Given the description of an element on the screen output the (x, y) to click on. 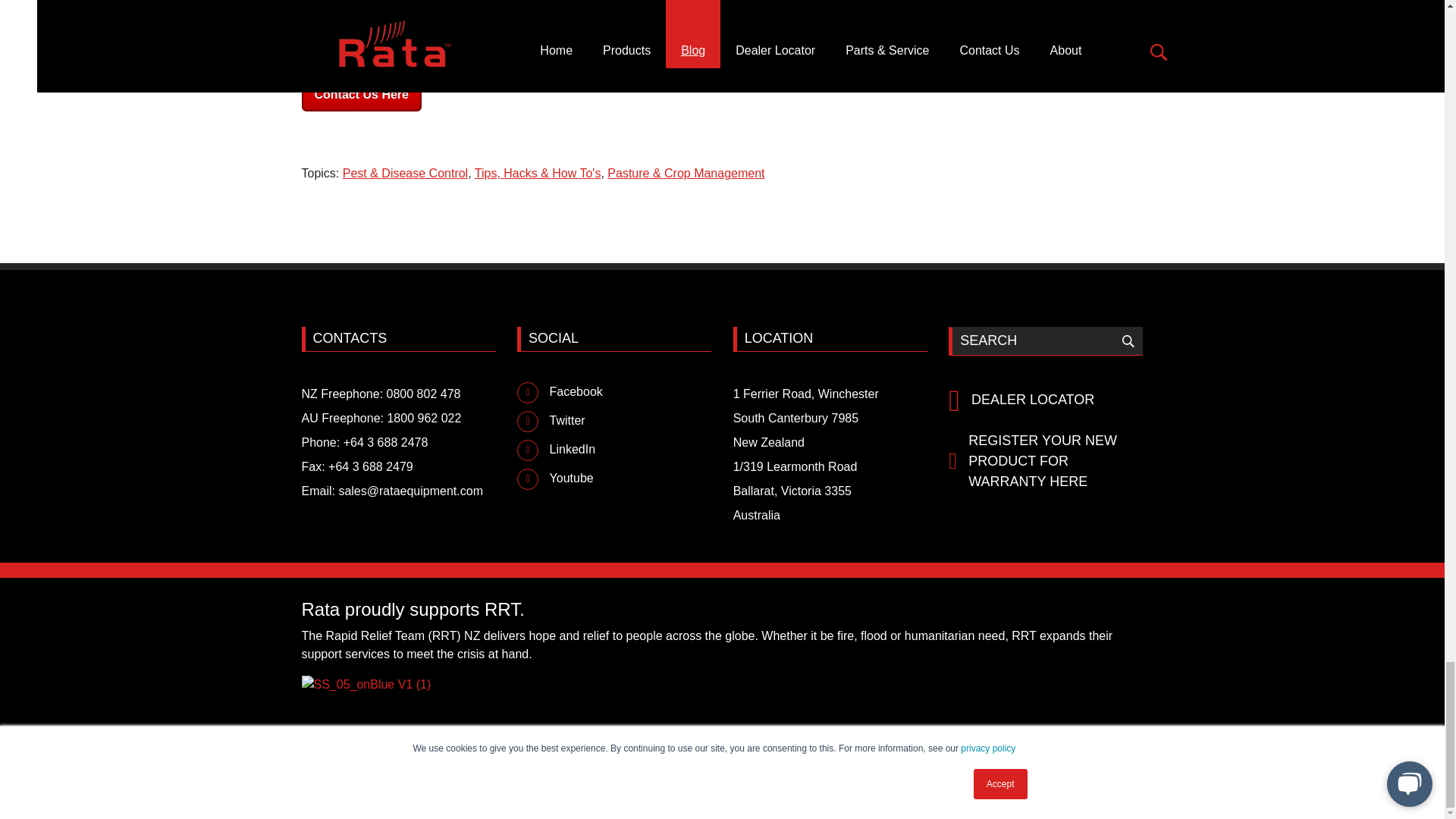
Contact Us Here (361, 94)
Contact Us Here (361, 94)
